Given the description of an element on the screen output the (x, y) to click on. 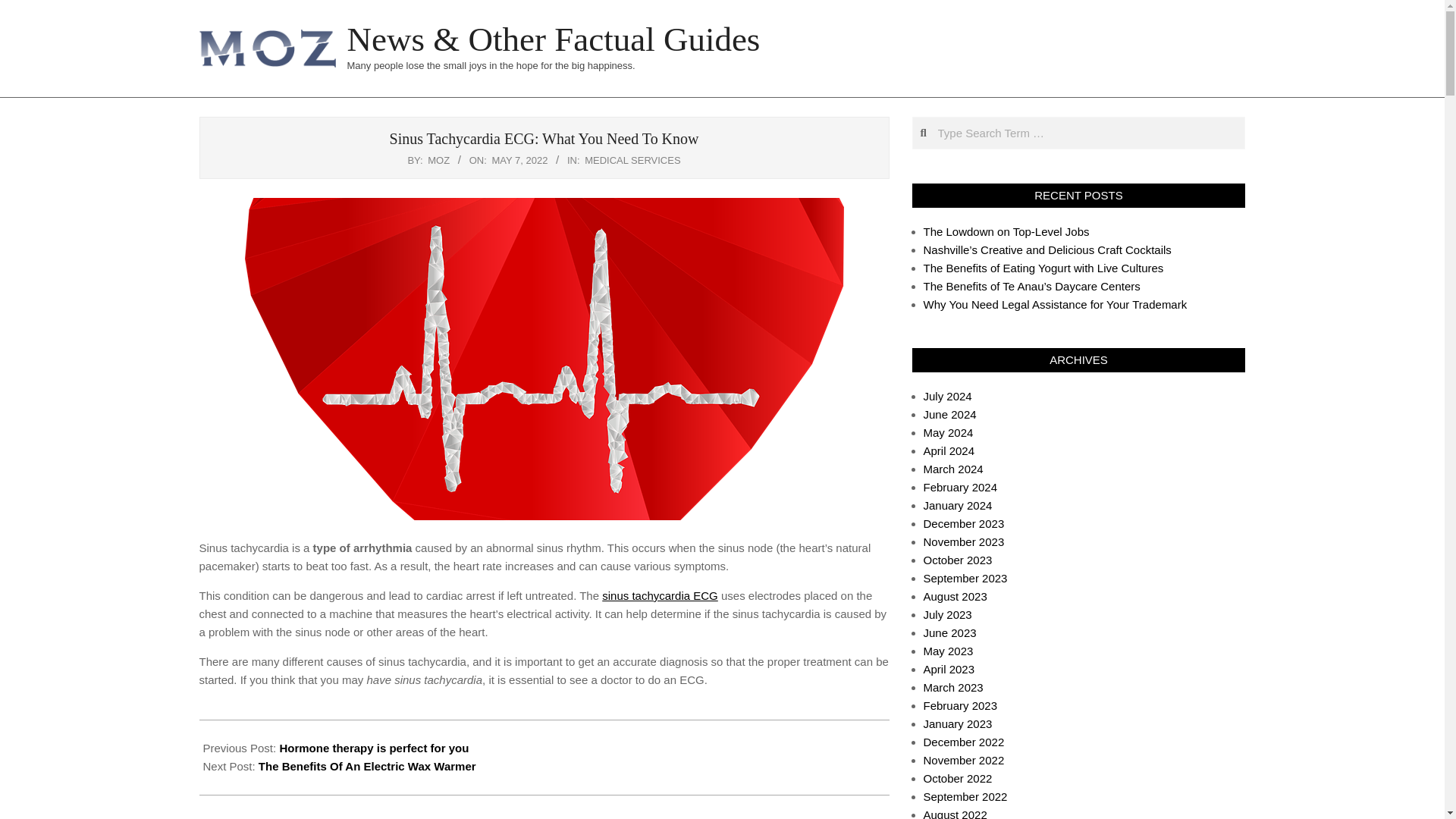
July 2023 (947, 614)
MEDICAL SERVICES (632, 160)
Hormone therapy is perfect for you (373, 748)
January 2024 (957, 504)
The Benefits Of An Electric Wax Warmer (367, 766)
November 2022 (963, 759)
May 2023 (948, 650)
September 2022 (965, 796)
Saturday, May 7, 2022, 9:55 pm (519, 160)
October 2023 (957, 559)
Posts by Moz (438, 160)
April 2024 (949, 450)
March 2024 (953, 468)
June 2023 (949, 632)
September 2023 (965, 577)
